Given the description of an element on the screen output the (x, y) to click on. 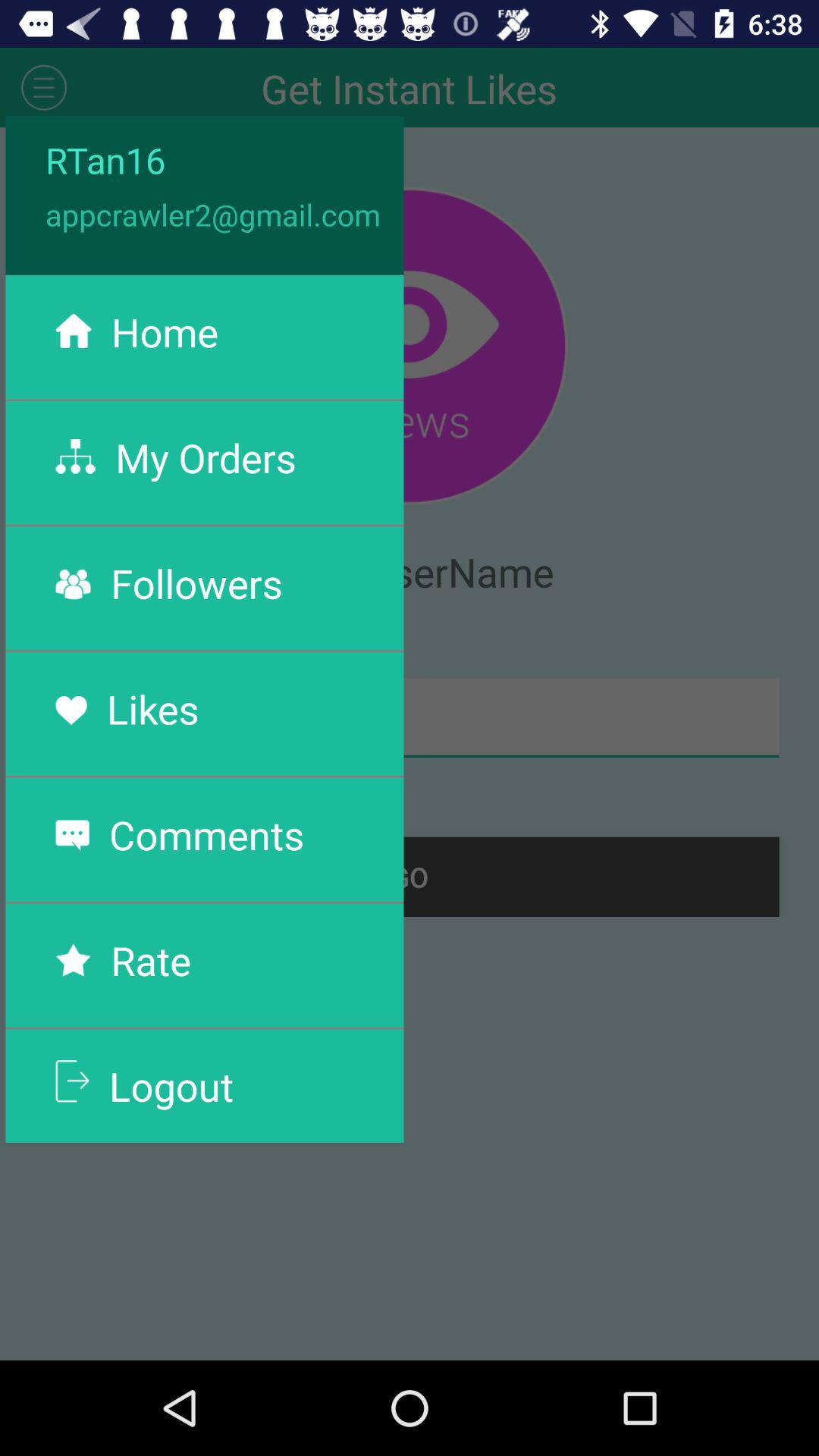
swipe to comments icon (206, 834)
